Given the description of an element on the screen output the (x, y) to click on. 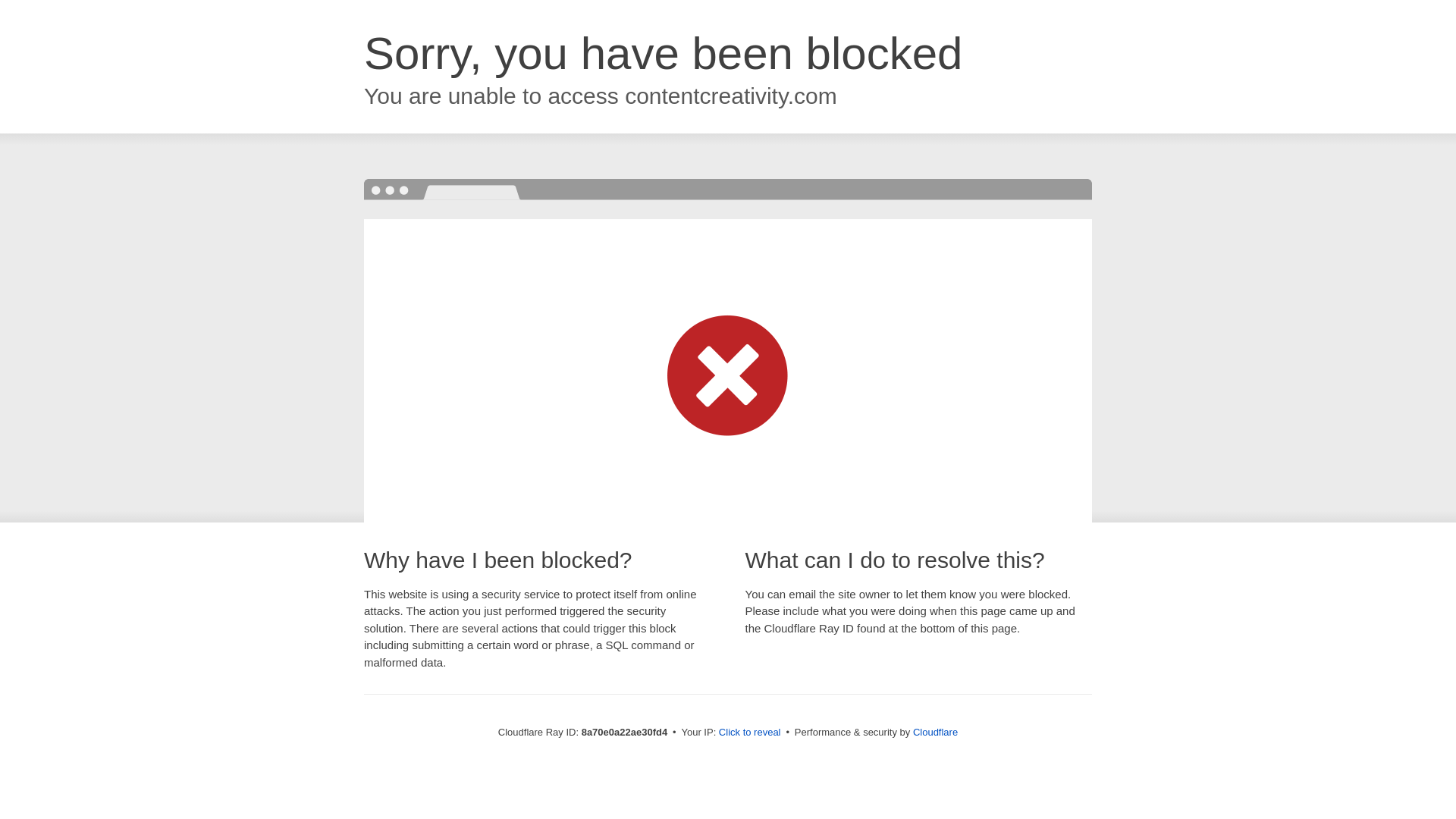
Click to reveal (749, 732)
Cloudflare (935, 731)
